Given the description of an element on the screen output the (x, y) to click on. 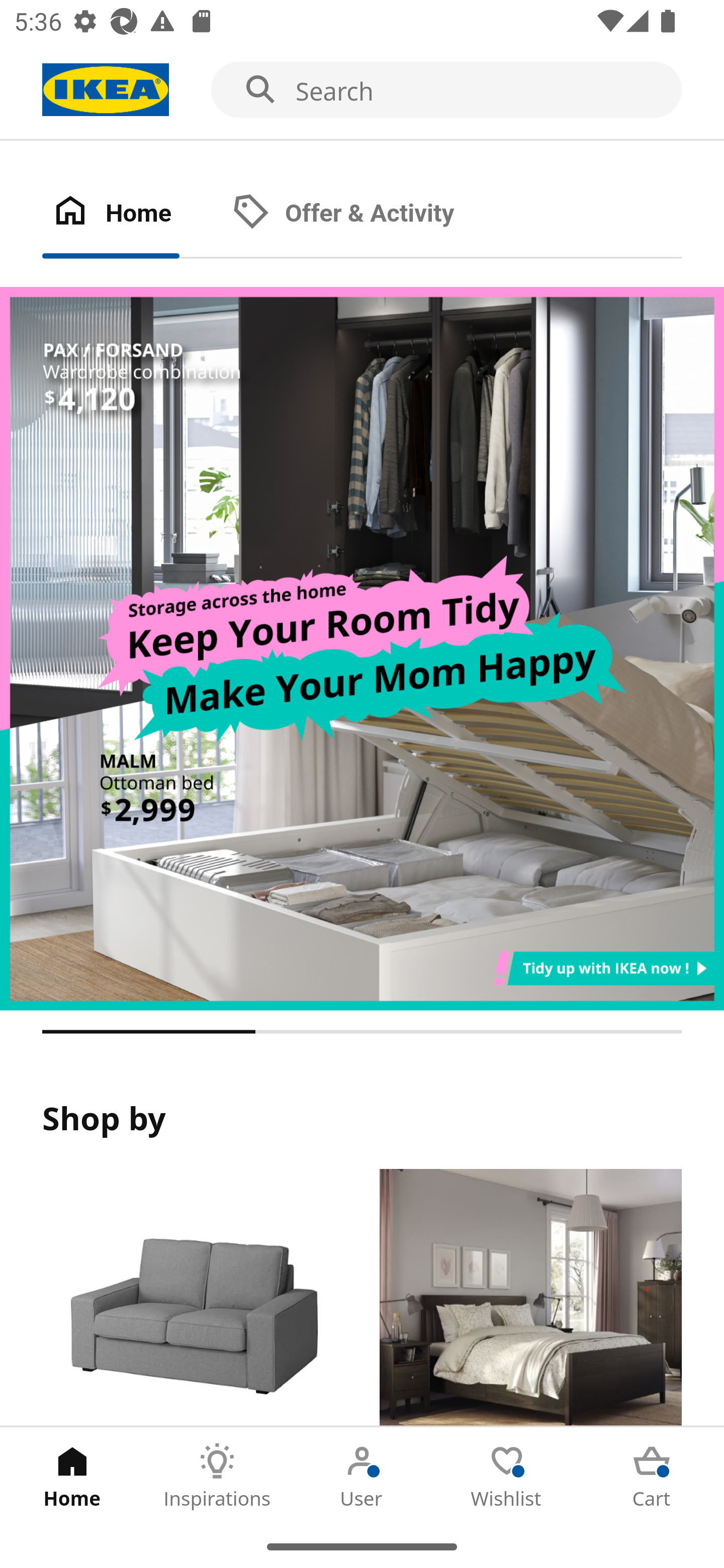
Search (361, 90)
Home
Tab 1 of 2 (131, 213)
Offer & Activity
Tab 2 of 2 (363, 213)
Products (192, 1297)
Rooms (530, 1297)
Home
Tab 1 of 5 (72, 1476)
Inspirations
Tab 2 of 5 (216, 1476)
User
Tab 3 of 5 (361, 1476)
Wishlist
Tab 4 of 5 (506, 1476)
Cart
Tab 5 of 5 (651, 1476)
